Given the description of an element on the screen output the (x, y) to click on. 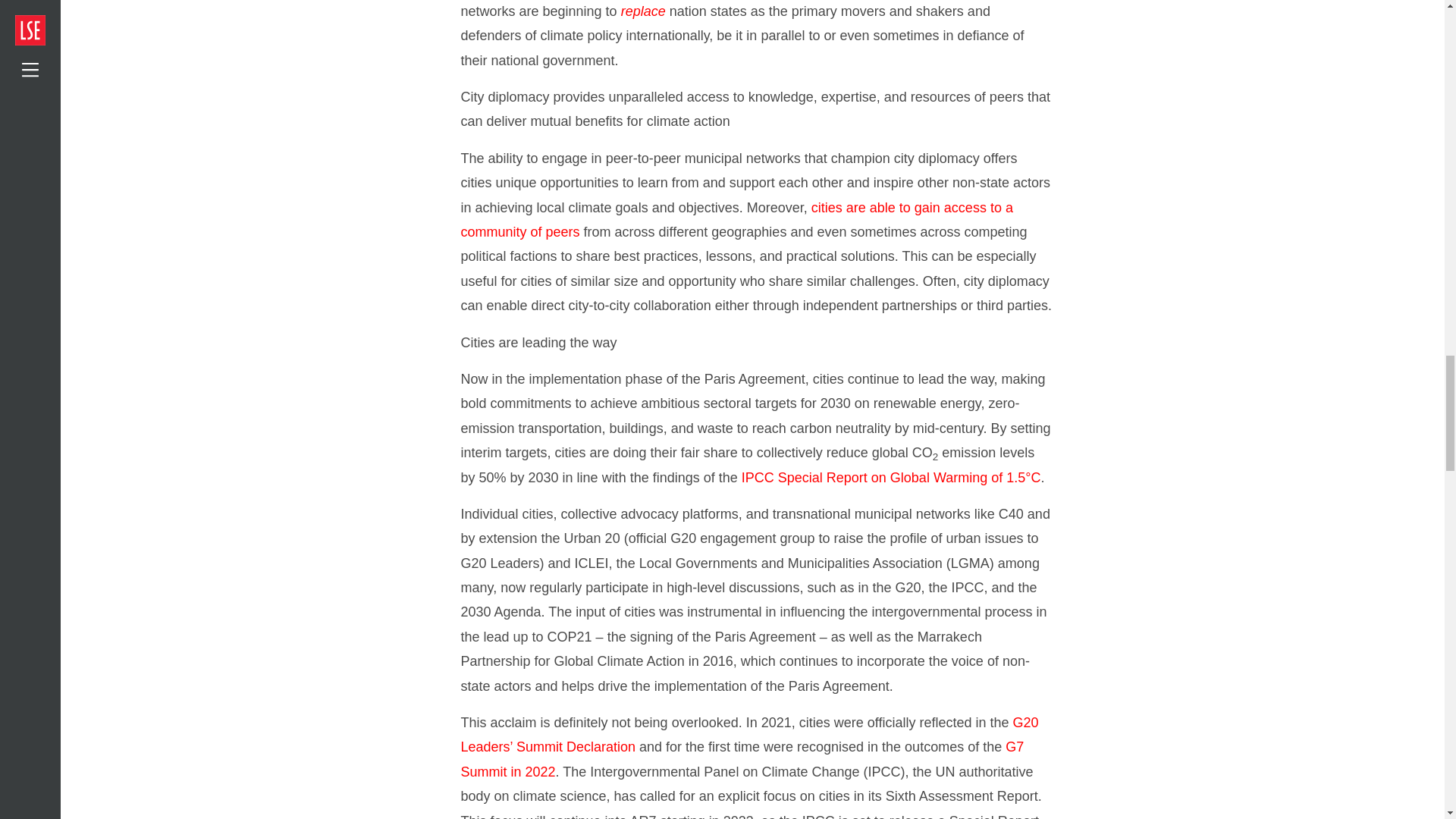
cities are able to gain access to a community of peers (737, 219)
replace (643, 11)
G7 Summit in 2022 (743, 758)
